Given the description of an element on the screen output the (x, y) to click on. 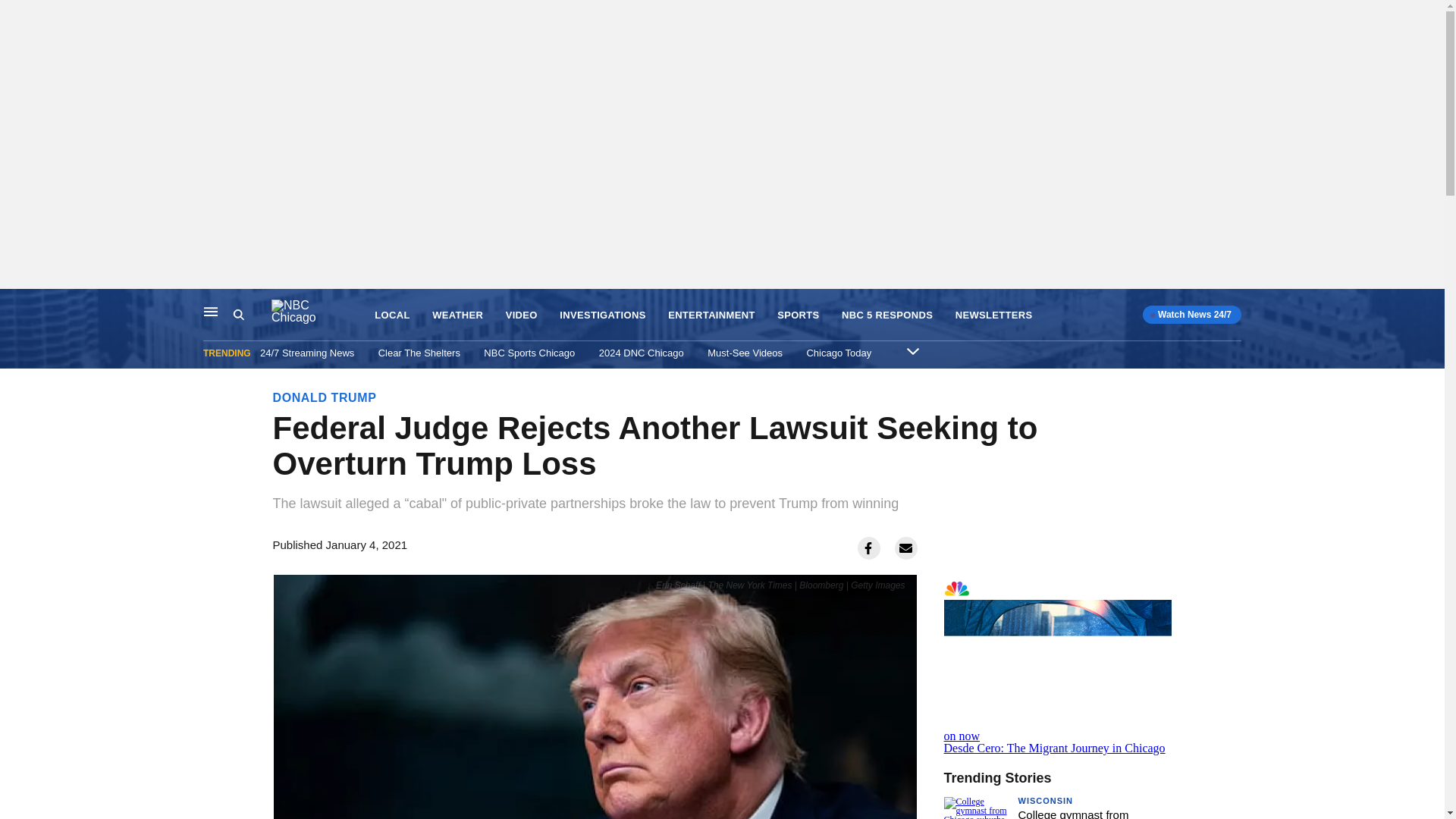
2024 DNC Chicago (641, 352)
Expand (912, 350)
NEWSLETTERS (1056, 664)
Search (993, 315)
Must-See Videos (238, 314)
Chicago Today (745, 352)
Search (838, 352)
NBC Sports Chicago (252, 314)
LOCAL (529, 352)
